Given the description of an element on the screen output the (x, y) to click on. 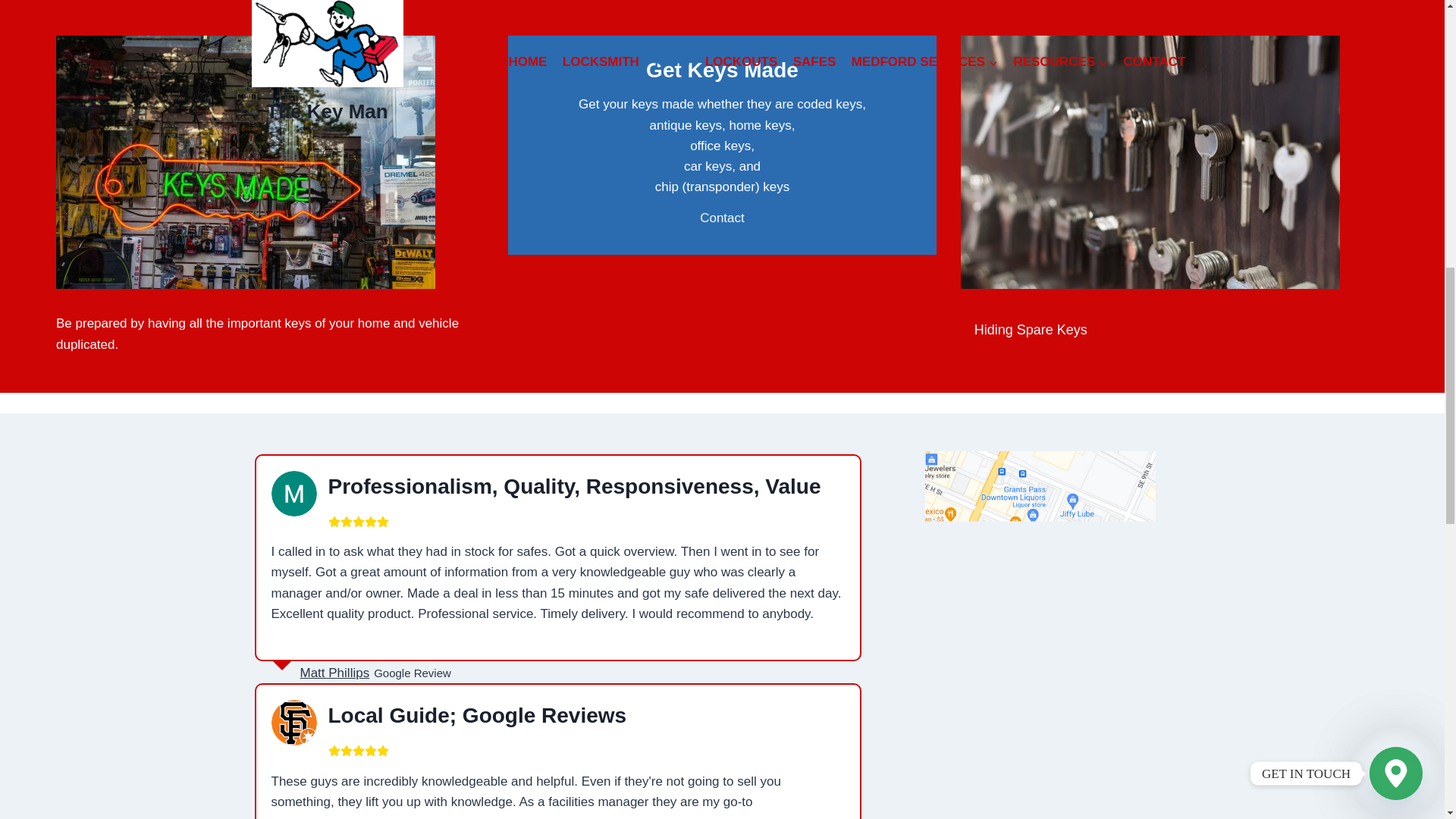
Hiding Spare Keys (1030, 328)
Matt Phillips (334, 672)
